Given the description of an element on the screen output the (x, y) to click on. 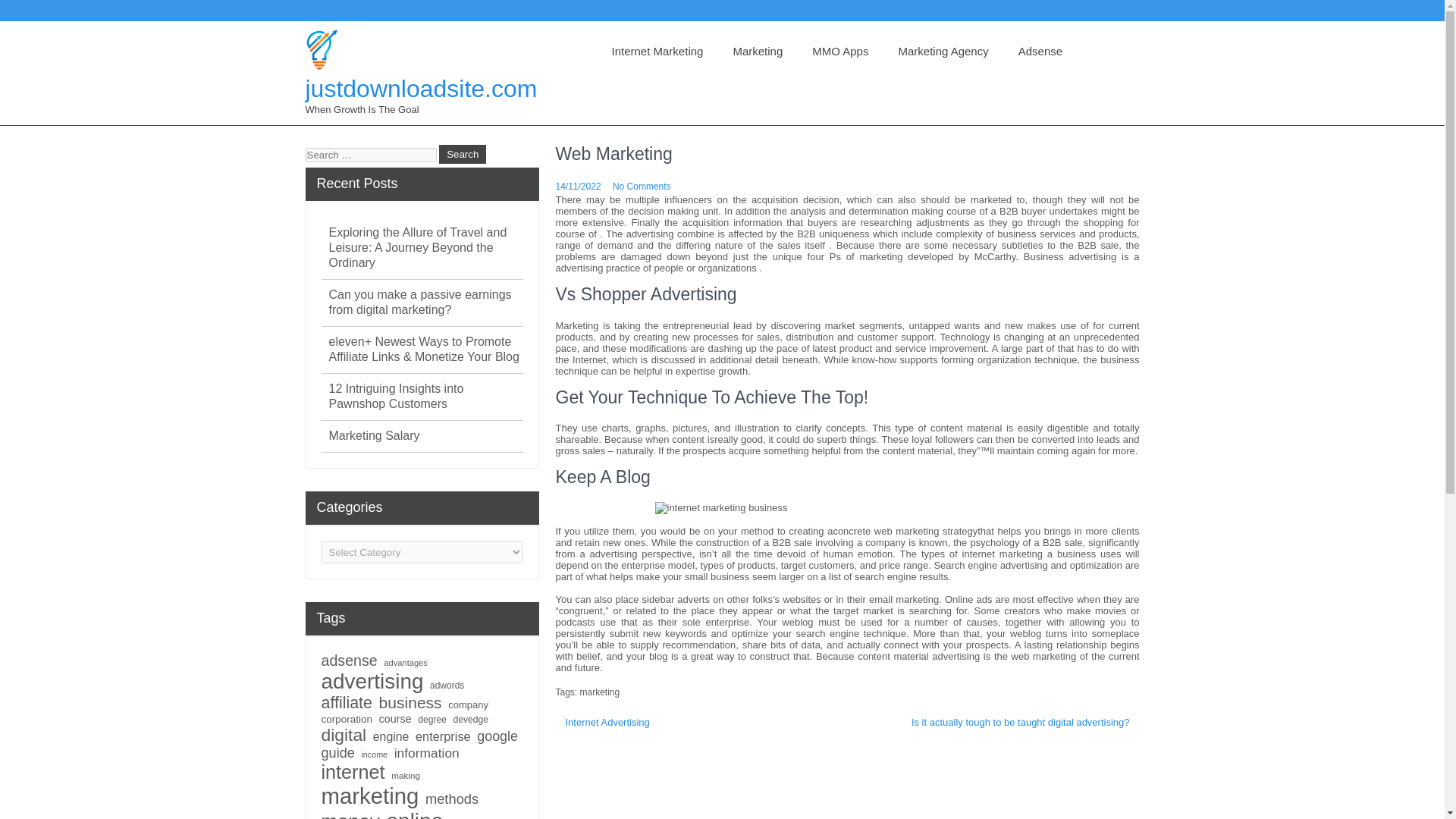
Internet Advertising (606, 722)
Can you make a passive earnings from digital marketing? (425, 302)
Is it actually tough to be taught digital advertising? (1020, 722)
Marketing Salary (374, 435)
marketing (599, 692)
Adsense (1040, 51)
justdownloadsite.com (420, 88)
Marketing (757, 51)
12 Intriguing Insights into Pawnshop Customers (425, 396)
No Comments (641, 185)
Search (462, 153)
Marketing Agency (942, 51)
Internet Marketing (656, 51)
Search (462, 153)
